Given the description of an element on the screen output the (x, y) to click on. 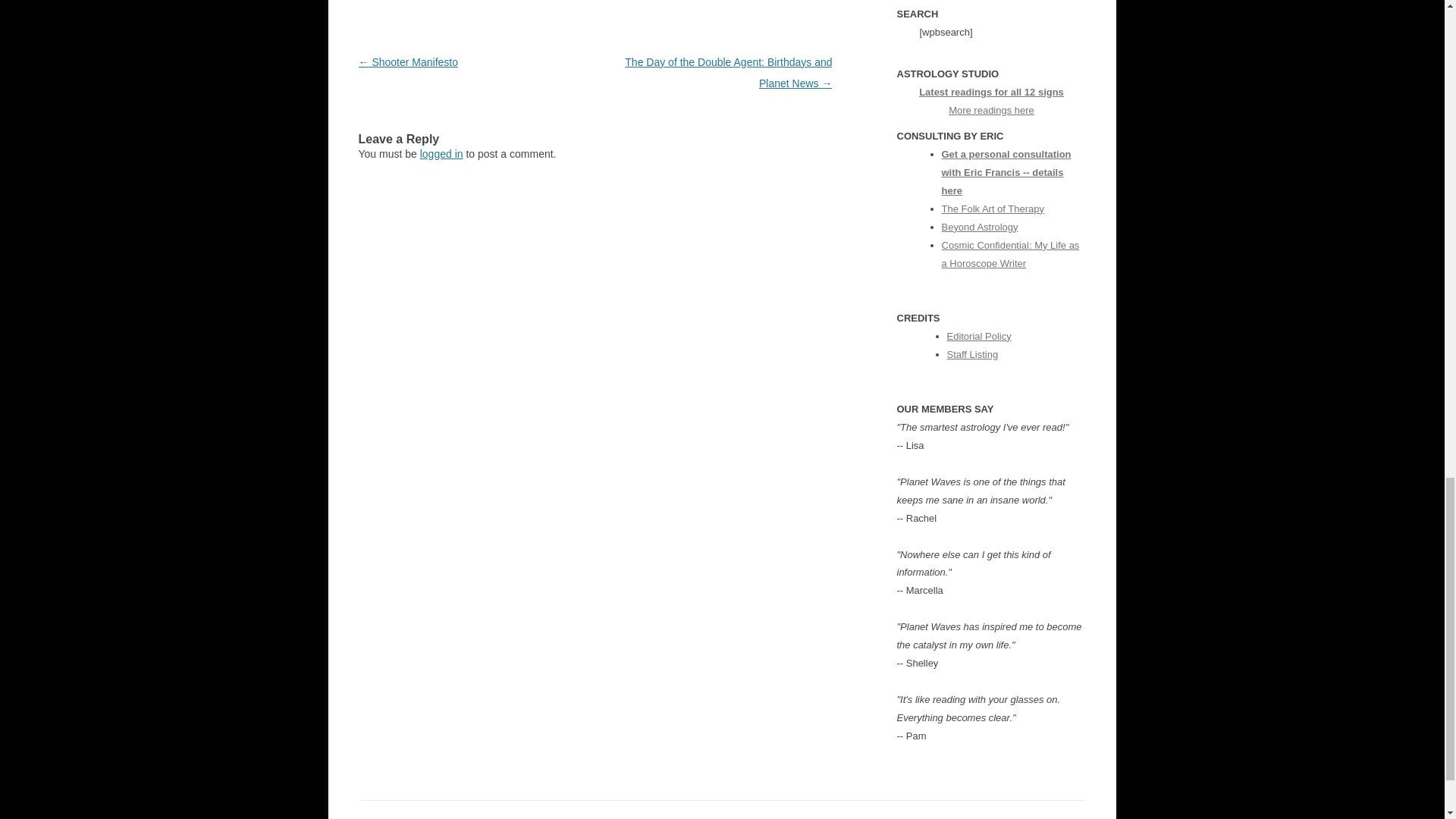
logged in (441, 153)
